Given the description of an element on the screen output the (x, y) to click on. 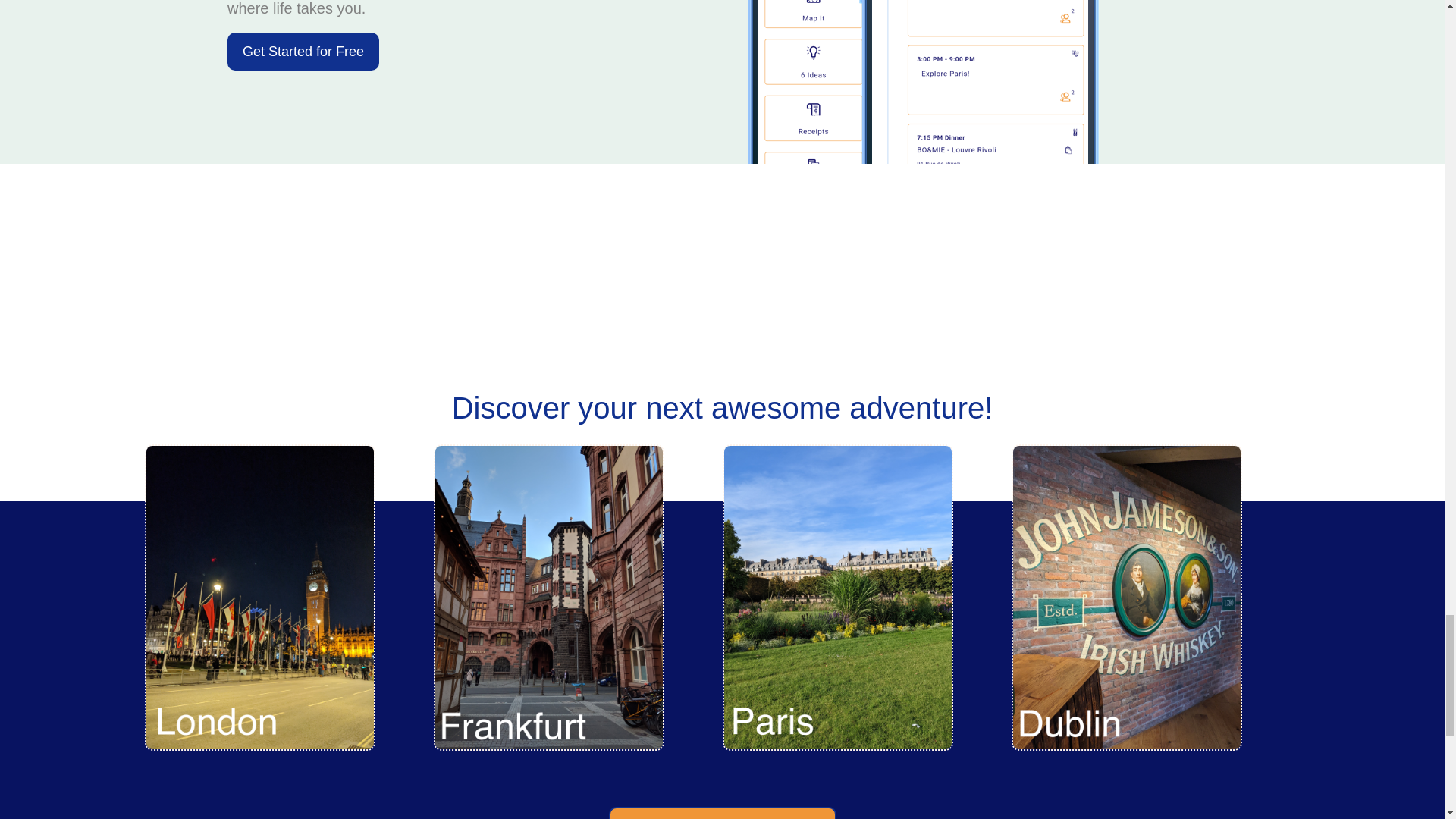
Get Started for Free (302, 51)
What are you waiting for? (721, 812)
